Given the description of an element on the screen output the (x, y) to click on. 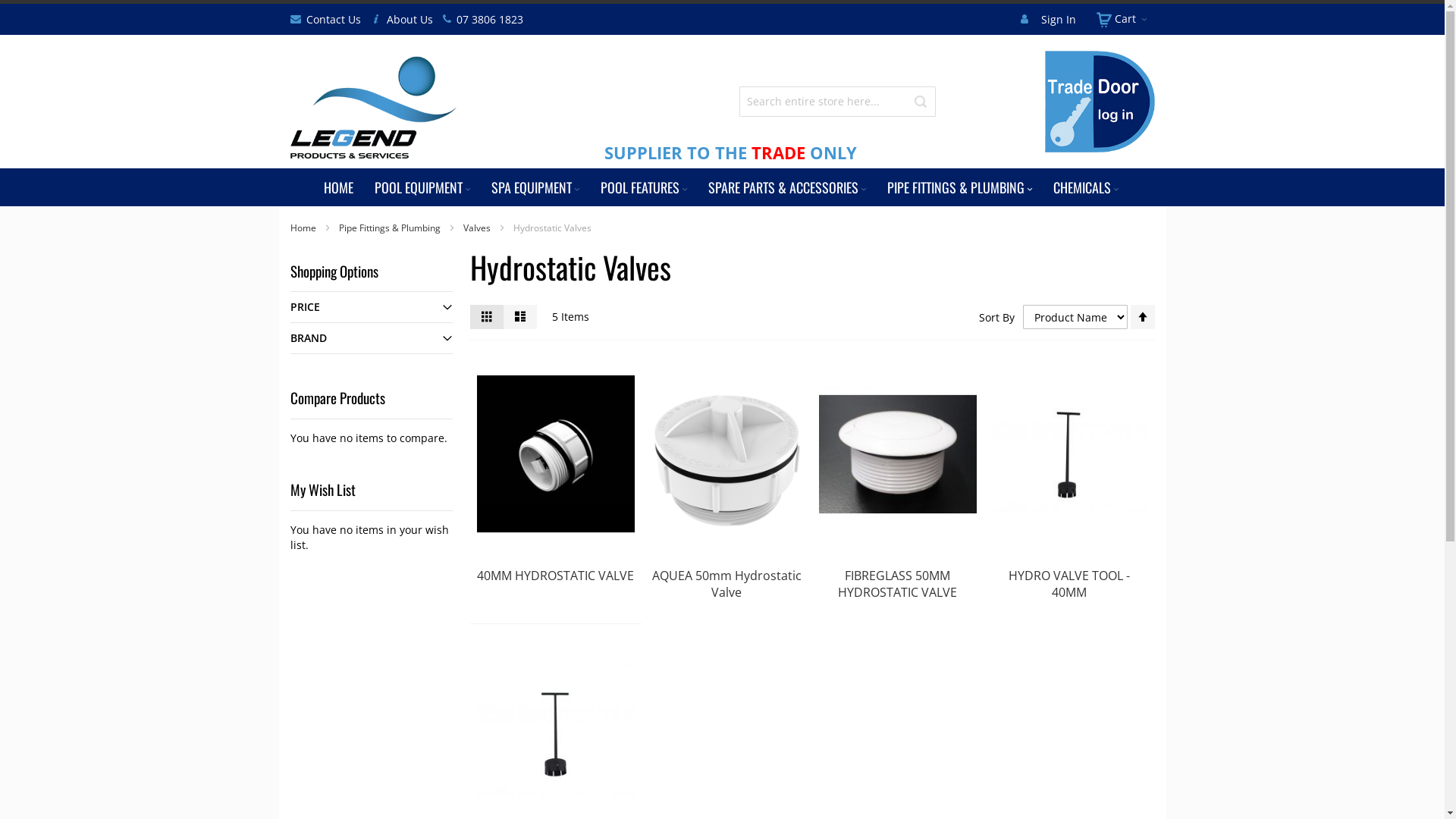
Search Element type: hover (920, 101)
FIBREGLASS 50MM HYDROSTATIC VALVE Element type: text (897, 583)
Legend Products Element type: hover (375, 109)
HYDRO VALVE TOOL - 40MM Element type: text (1068, 583)
AQUEA 50mm Hydrostatic Valve Element type: text (726, 583)
SPARE PARTS & ACCESSORIES Element type: text (788, 187)
About Us Element type: text (408, 19)
POOL EQUIPMENT Element type: text (423, 187)
CHEMICALS Element type: text (1086, 187)
PIPE FITTINGS & PLUMBING Element type: text (961, 187)
40MM HYDROSTATIC VALVE Element type: text (554, 575)
Sign In Element type: text (1058, 19)
List Element type: text (519, 316)
SPA EQUIPMENT Element type: text (536, 187)
Pipe Fittings & Plumbing Element type: text (390, 227)
Contact Us Element type: text (332, 19)
Home Element type: text (303, 227)
07 3806 1823 Element type: text (488, 19)
POOL FEATURES Element type: text (645, 187)
Valves Element type: text (477, 227)
Set Descending Direction Element type: text (1141, 316)
HOME Element type: text (337, 187)
